Given the description of an element on the screen output the (x, y) to click on. 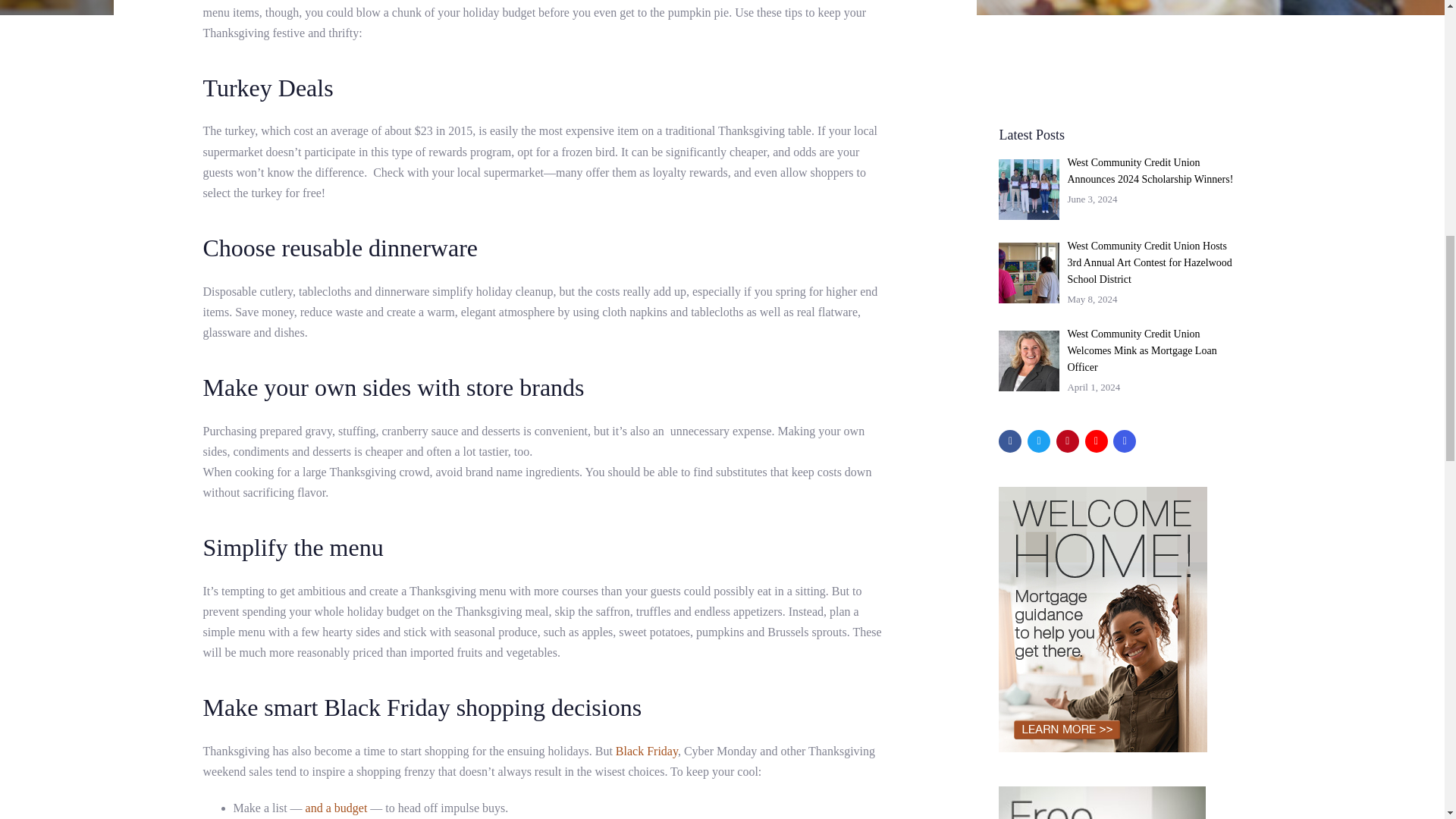
and a budget (336, 807)
Black Friday (646, 750)
